Given the description of an element on the screen output the (x, y) to click on. 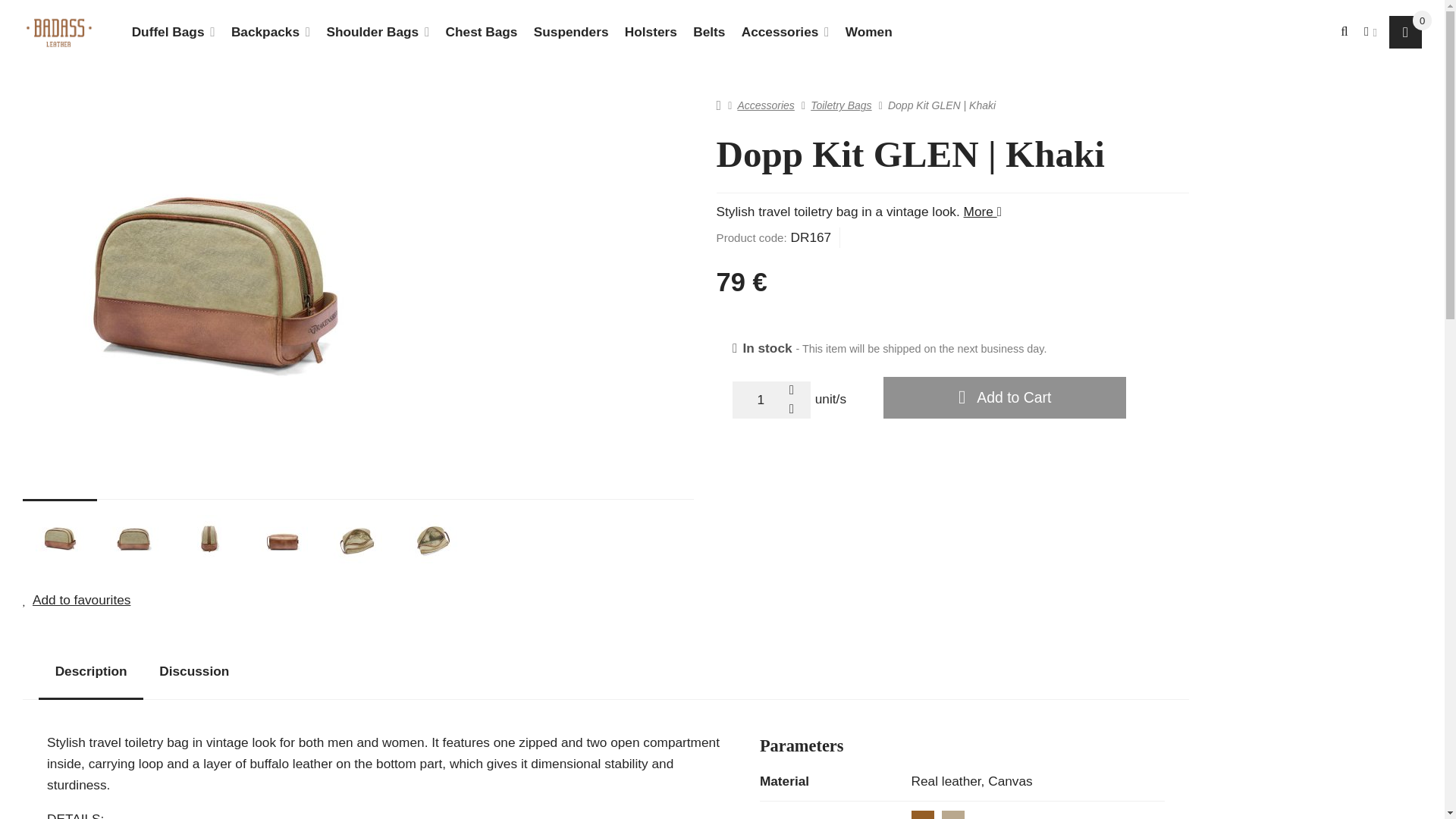
Holsters (649, 32)
Go to Cart (1405, 31)
Shoulder Bags (378, 32)
Backpacks (270, 32)
Accessories (785, 32)
Suspenders (570, 32)
1 (771, 399)
0 item (1421, 20)
Home (59, 32)
Women (868, 32)
Chest Bags (481, 32)
Belts (709, 32)
Your account (1367, 31)
Duffel Bags (172, 32)
